Given the description of an element on the screen output the (x, y) to click on. 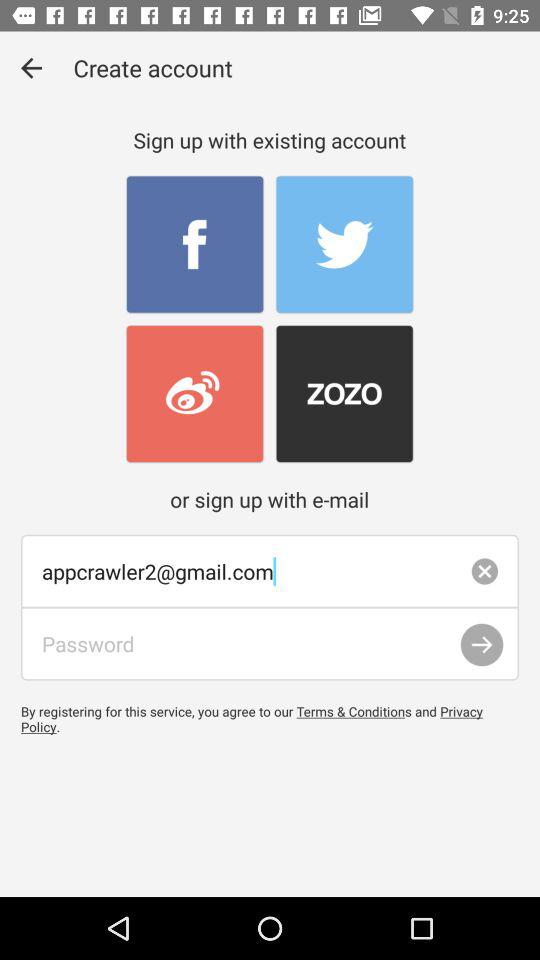
sign up with weibo account (194, 394)
